Given the description of an element on the screen output the (x, y) to click on. 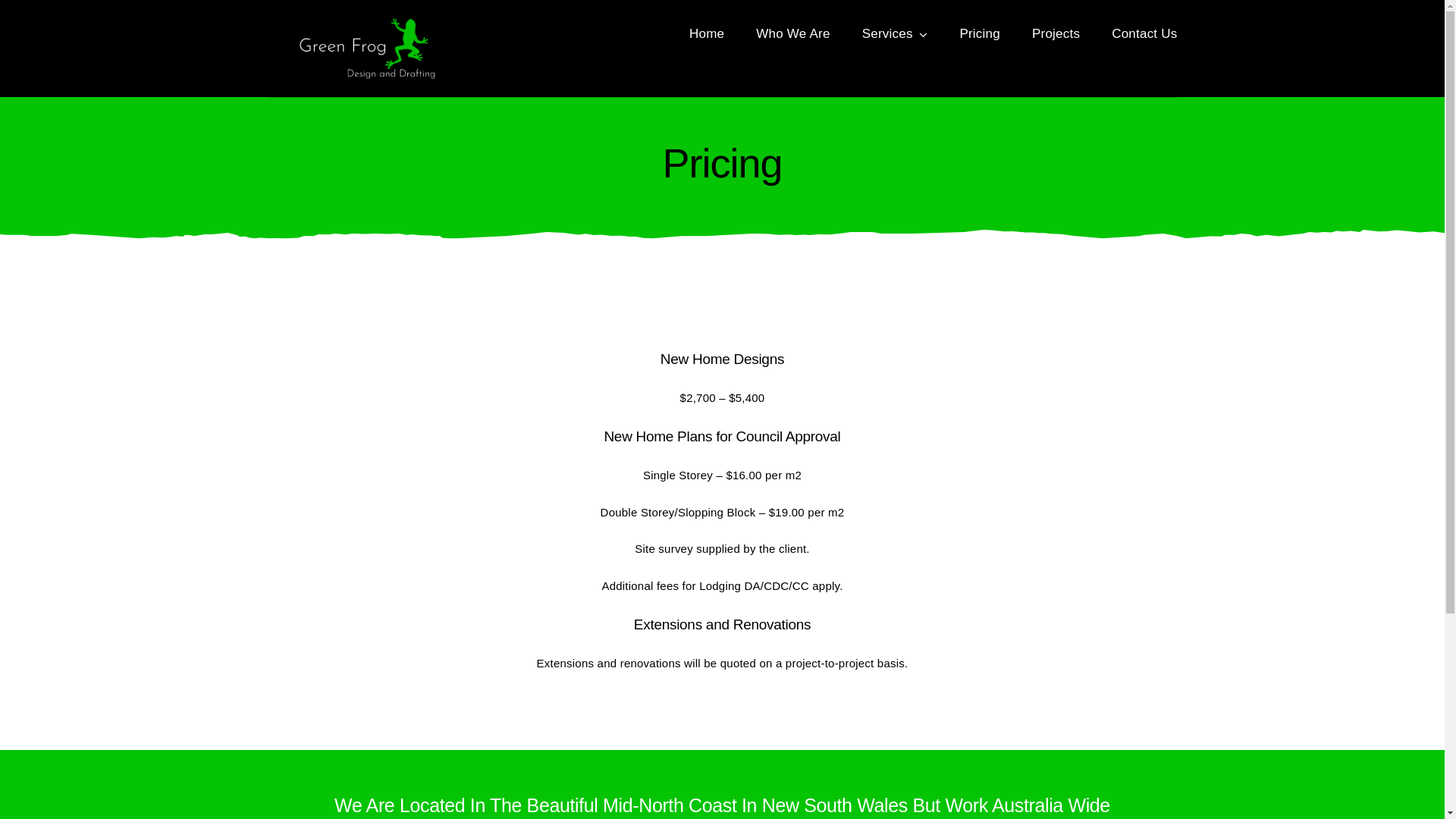
Services Element type: text (895, 34)
Home Element type: text (706, 34)
Who We Are Element type: text (792, 34)
Contact Us Element type: text (1143, 34)
Projects Element type: text (1055, 34)
Pricing Element type: text (979, 34)
